Given the description of an element on the screen output the (x, y) to click on. 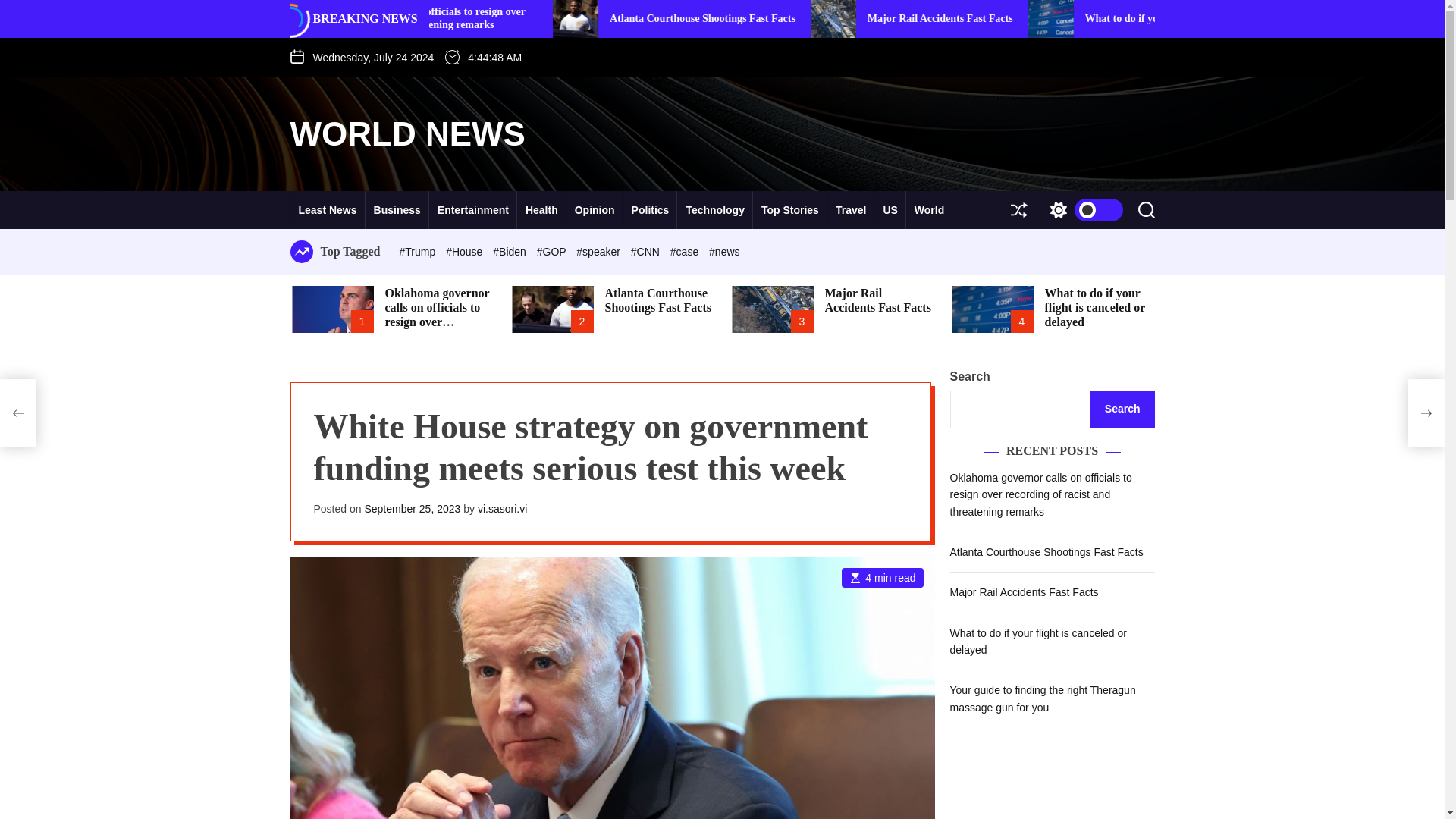
Least News (327, 209)
Business (397, 209)
WORLD NEWS (406, 133)
Major Rail Accidents Fast Facts (1131, 18)
Atlanta Courthouse Shootings Fast Facts (893, 18)
